Given the description of an element on the screen output the (x, y) to click on. 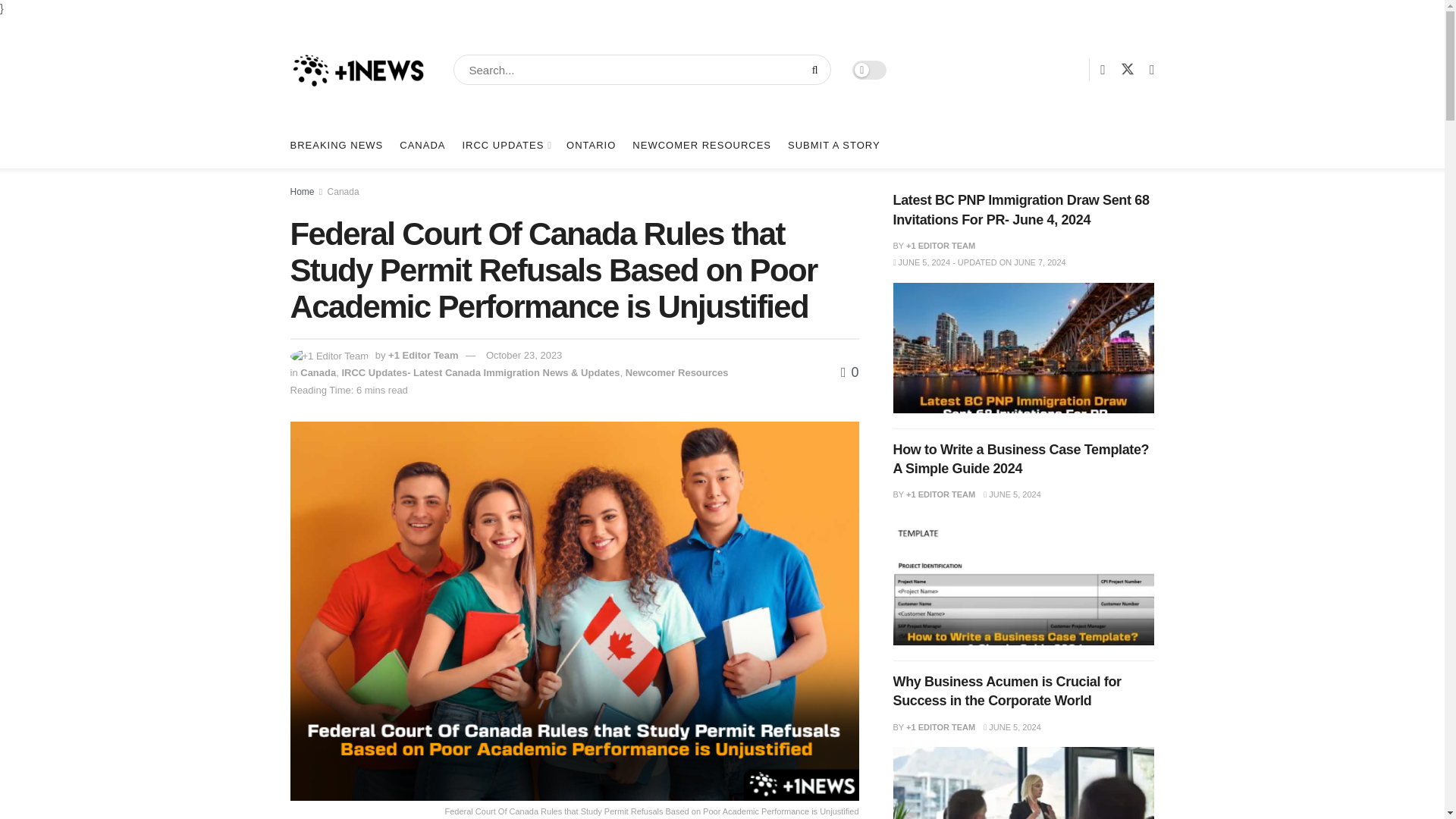
Canada (343, 191)
IRCC UPDATES (505, 145)
October 23, 2023 (524, 355)
Canada (317, 372)
CANADA (421, 145)
Newcomer Resources (677, 372)
BREAKING NEWS (335, 145)
ONTARIO (590, 145)
NEWCOMER RESOURCES (701, 145)
0 (850, 372)
